Given the description of an element on the screen output the (x, y) to click on. 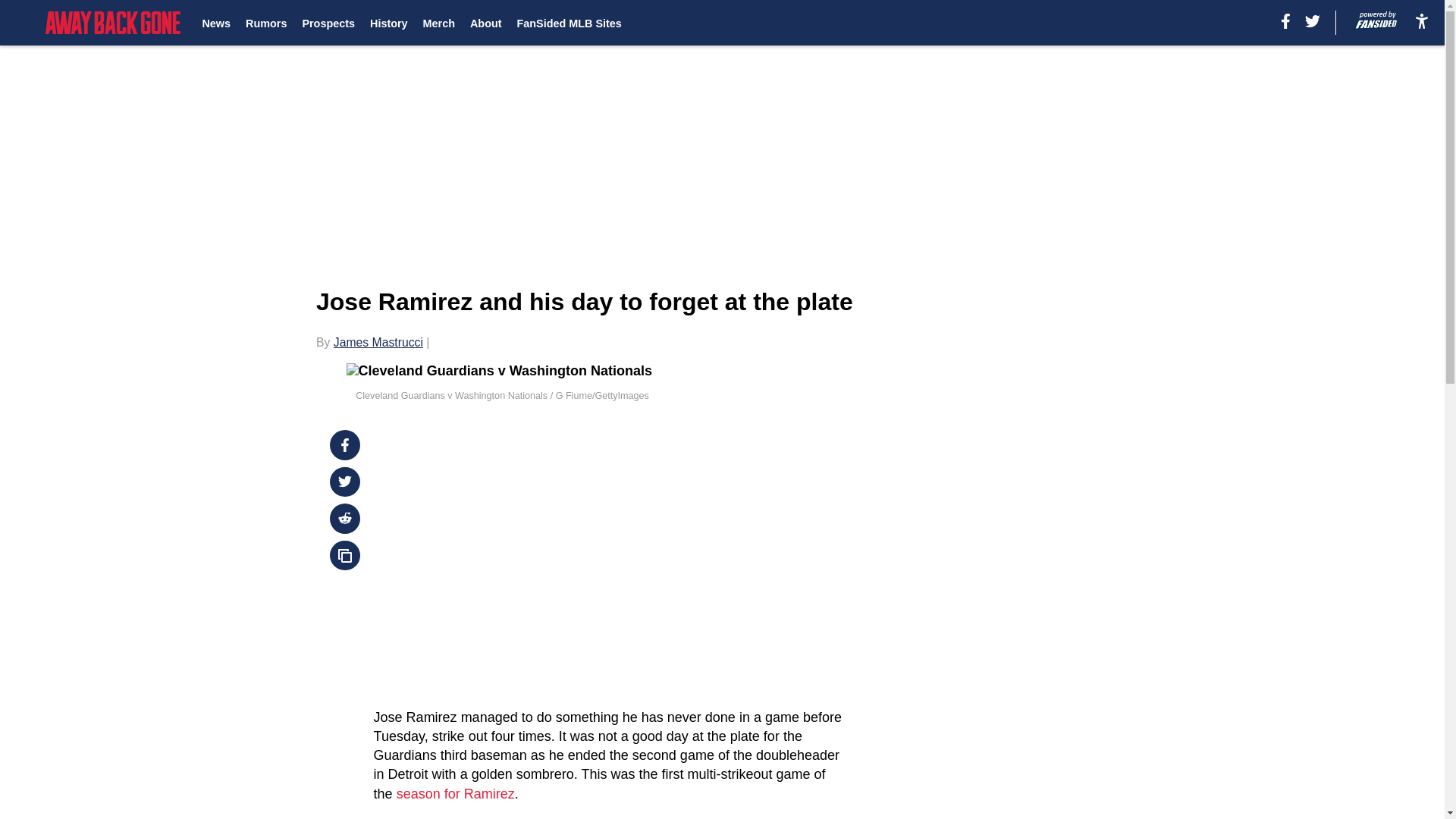
Prospects (328, 23)
News (216, 23)
History (388, 23)
FanSided MLB Sites (568, 23)
James Mastrucci (378, 341)
About (486, 23)
season for Ramirez (455, 793)
Merch (438, 23)
Rumors (266, 23)
